Given the description of an element on the screen output the (x, y) to click on. 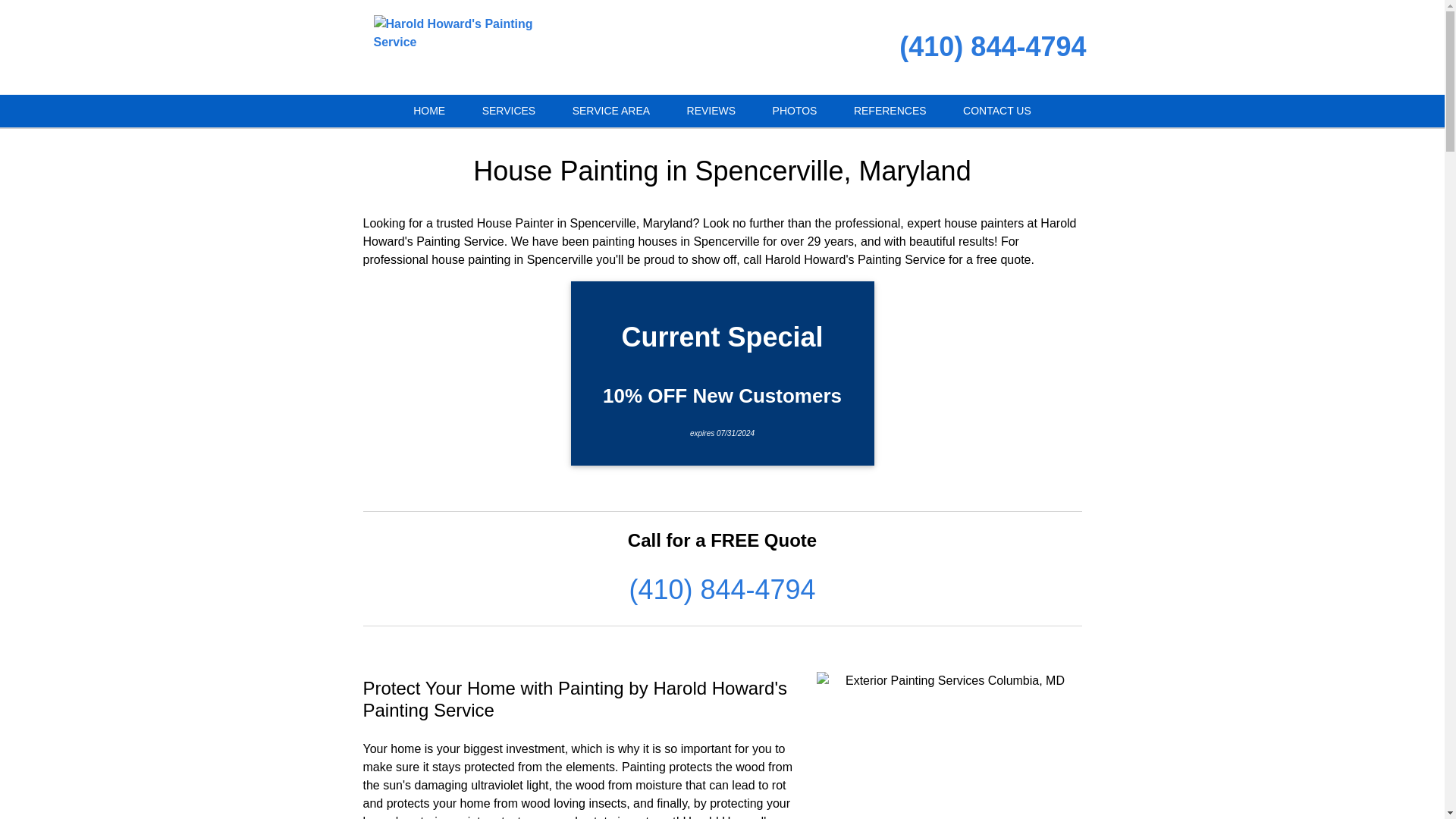
CONTACT US (997, 111)
HOME (428, 111)
SERVICE AREA (611, 111)
REFERENCES (890, 111)
SERVICES (509, 111)
REVIEWS (710, 111)
PHOTOS (794, 111)
